Given the description of an element on the screen output the (x, y) to click on. 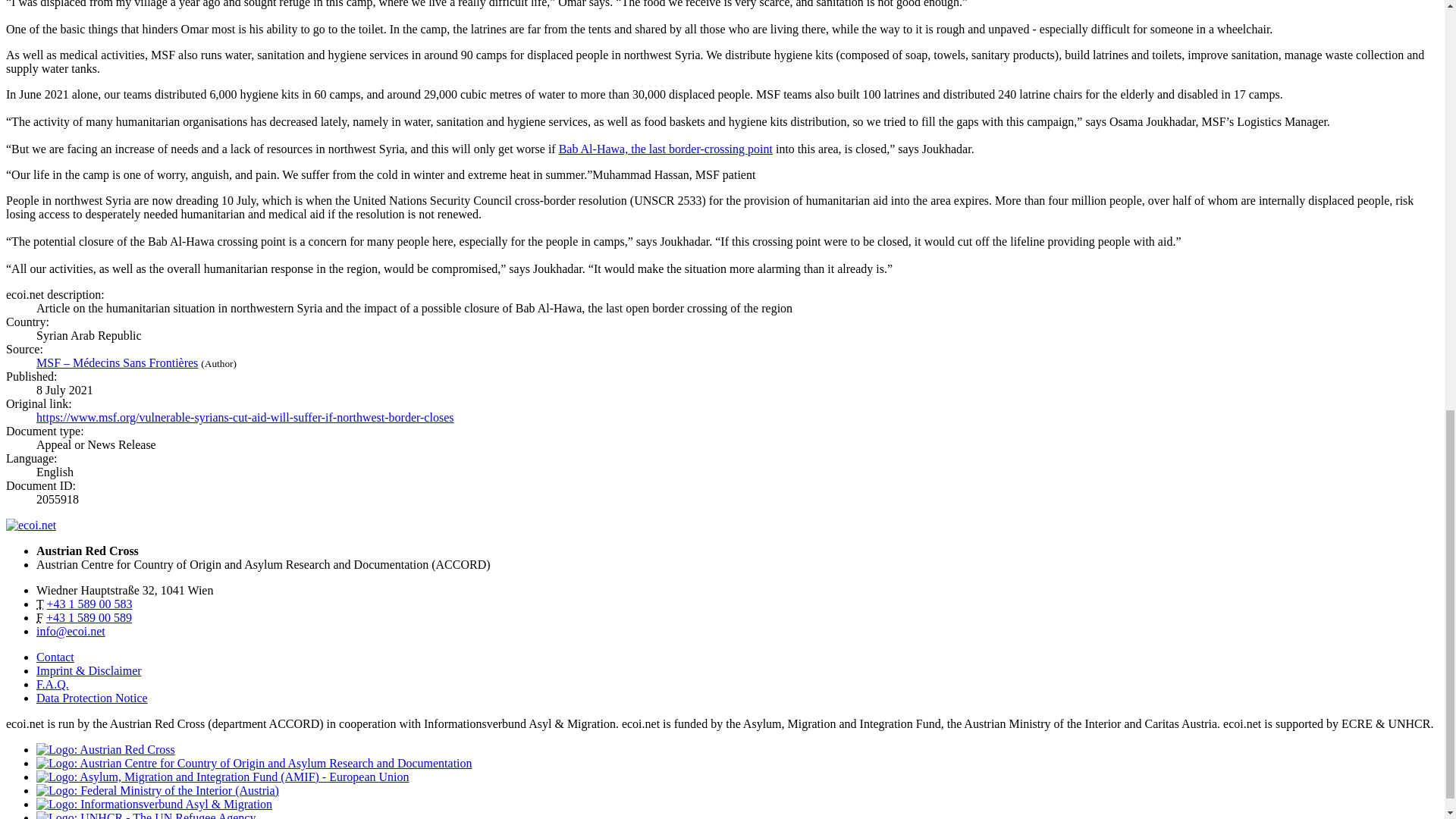
Bab Al-Hawa, the last border-crossing point (666, 148)
F.A.Q. (52, 684)
Telephone (89, 603)
Austrian Red Cross (105, 748)
Read source description (117, 362)
Telefax (89, 617)
Contact (55, 656)
Data Protection Notice (92, 697)
